Given the description of an element on the screen output the (x, y) to click on. 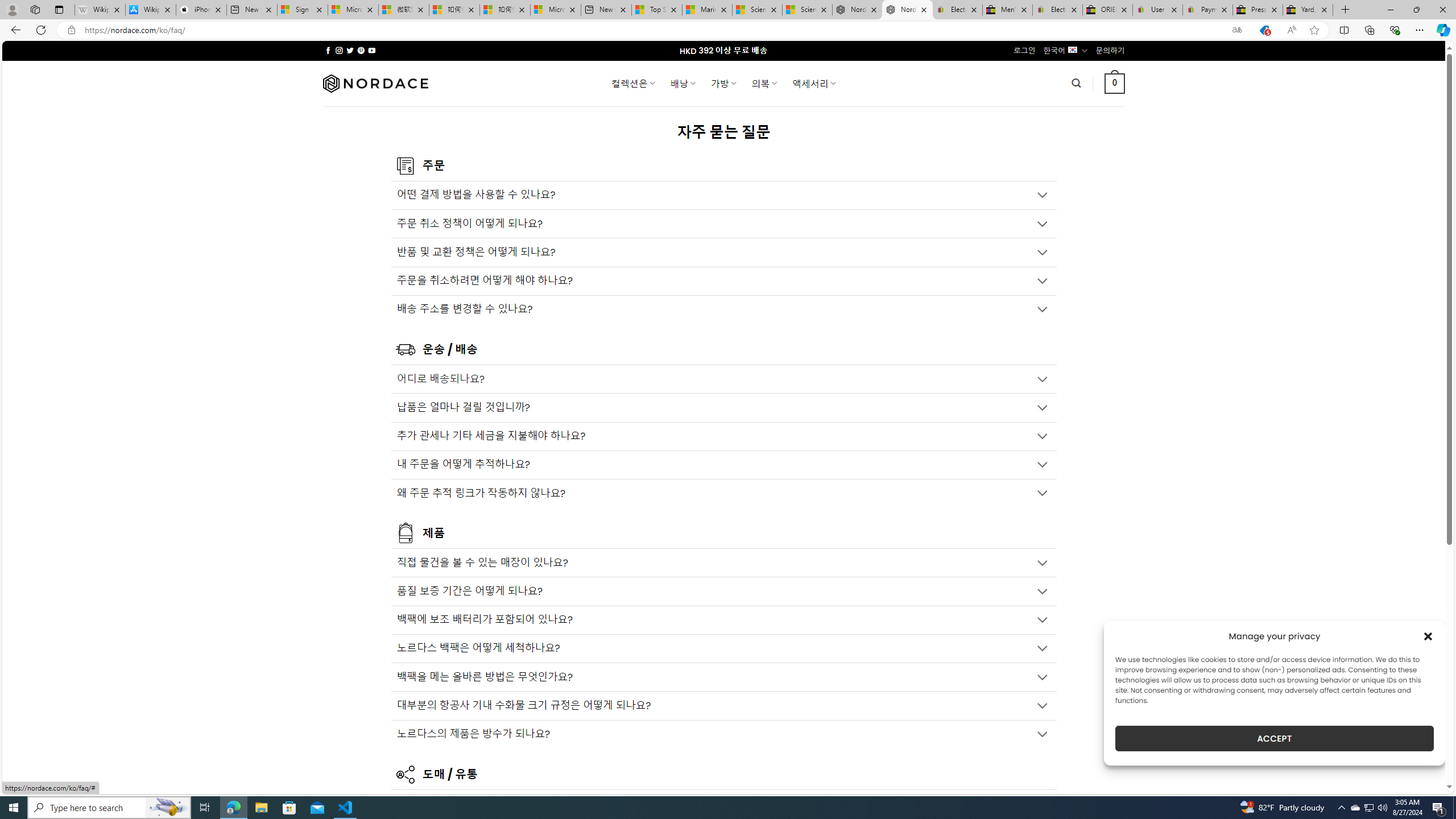
User Privacy Notice | eBay (1158, 9)
Wikipedia - Sleeping (99, 9)
